Given the description of an element on the screen output the (x, y) to click on. 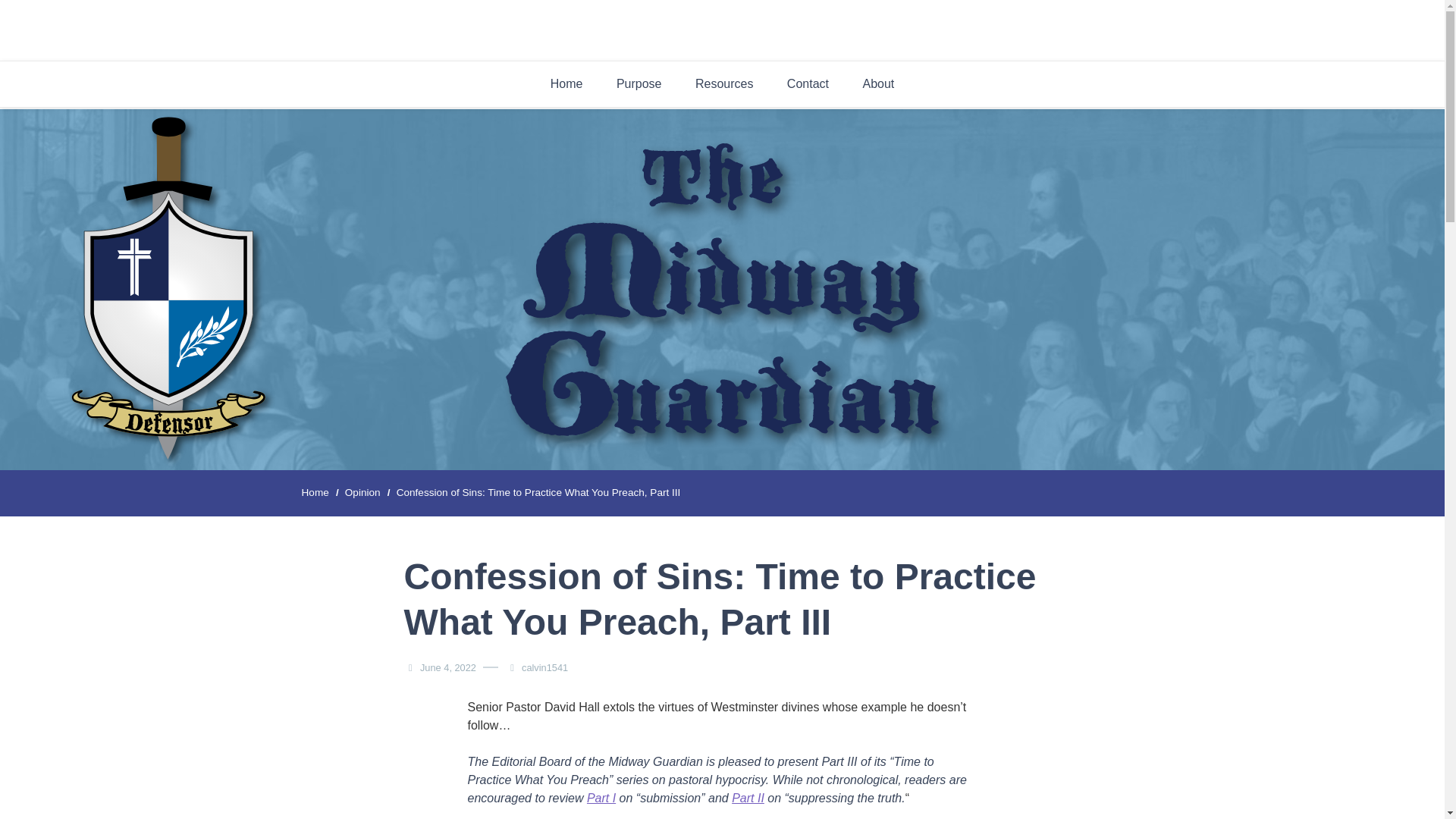
Home (315, 492)
Opinion (362, 492)
June 4, 2022 (448, 667)
Home (566, 83)
About (877, 83)
Part I (600, 798)
Contact (807, 83)
Resources (723, 83)
The Midway Guardian (820, 54)
Part II (748, 798)
Purpose (639, 83)
calvin1541 (548, 667)
